Given the description of an element on the screen output the (x, y) to click on. 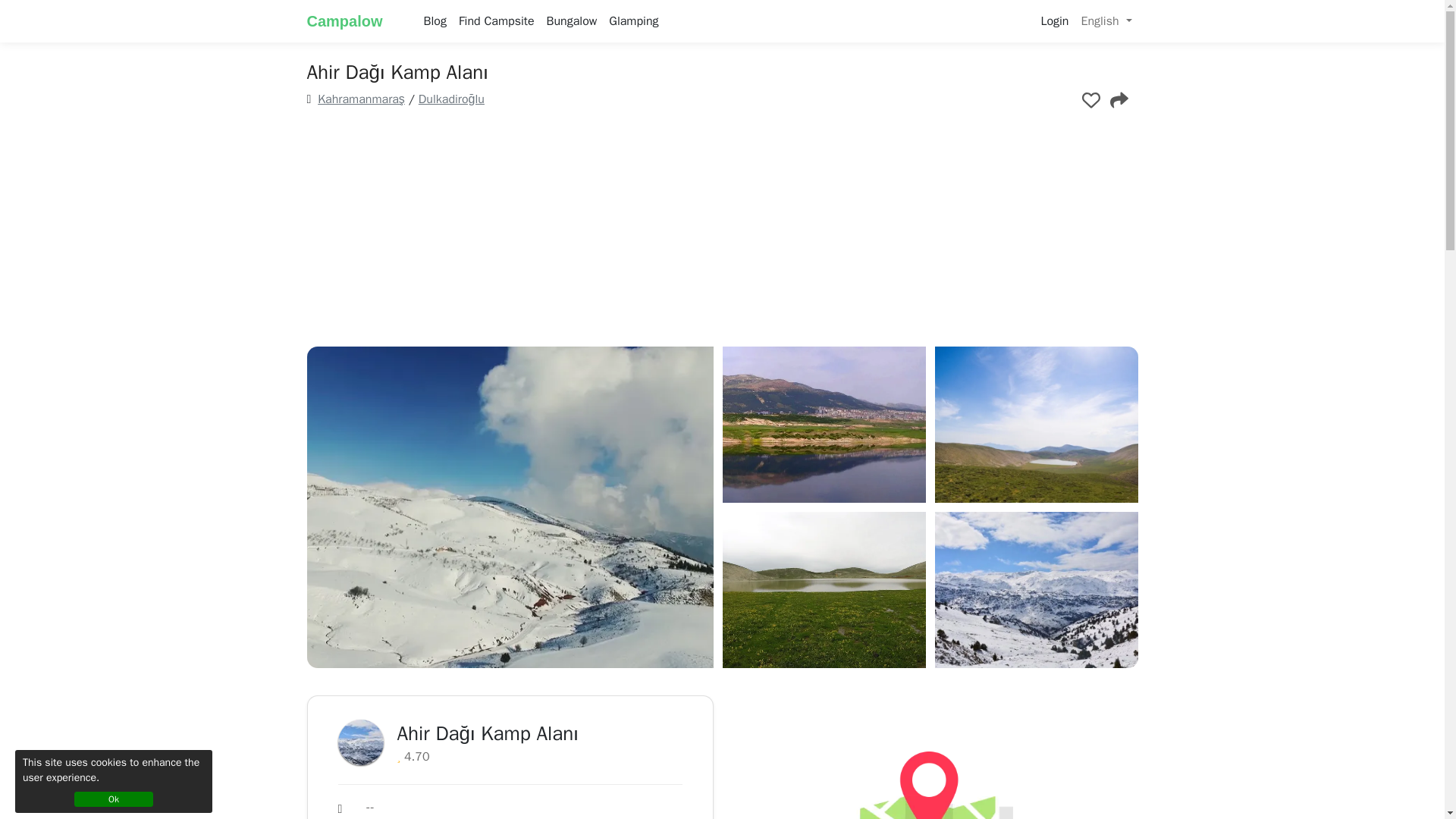
Find Campsite (496, 20)
Blog (434, 20)
Campalow (354, 20)
English (1105, 20)
Login (1053, 20)
Bungalow (572, 20)
Glamping (632, 20)
